Given the description of an element on the screen output the (x, y) to click on. 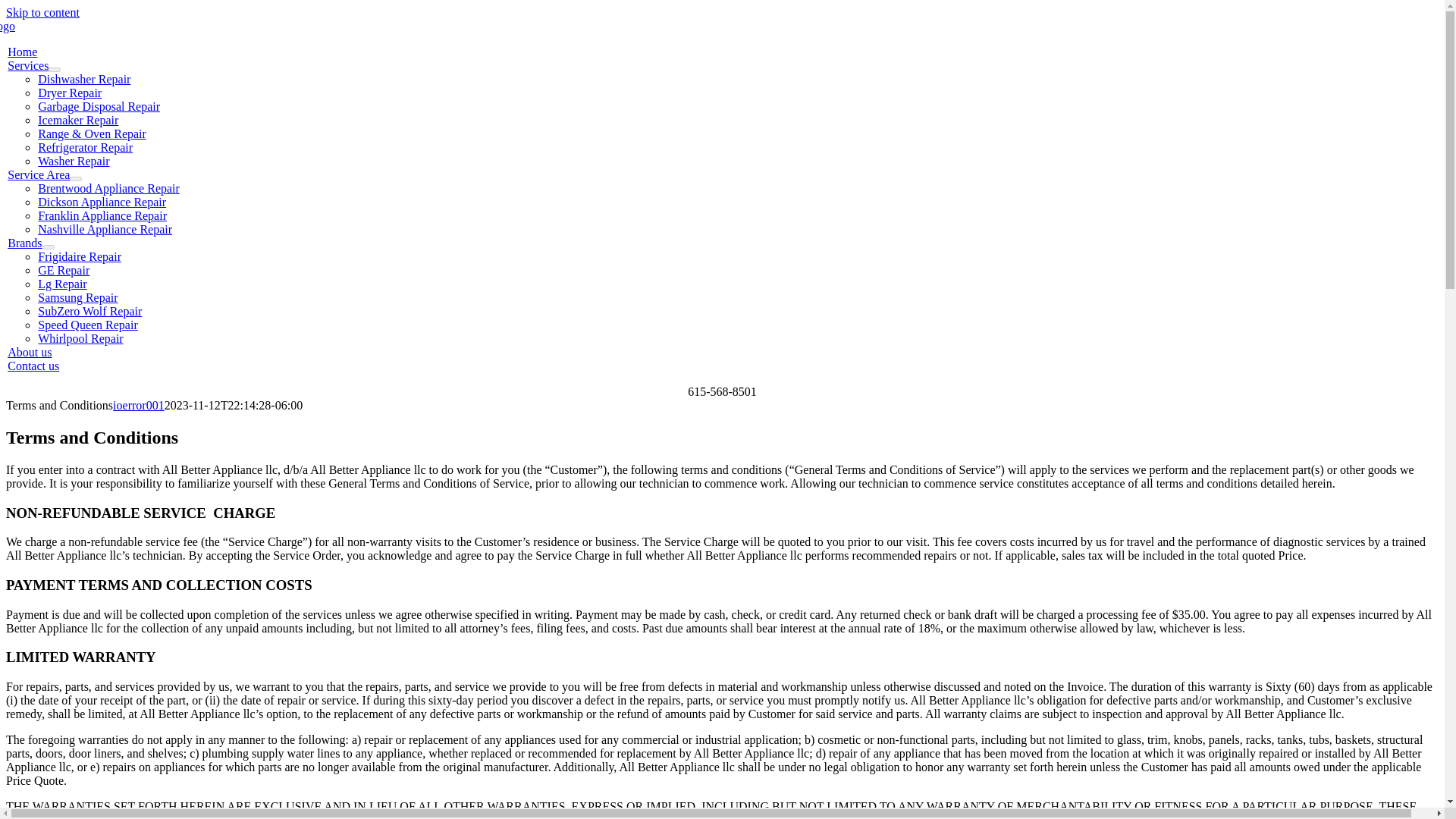
About us (28, 351)
Washer Repair (73, 160)
Dishwasher Repair (84, 78)
SubZero Wolf Repair (89, 310)
Icemaker Repair (77, 119)
Samsung Repair (77, 297)
Skip to content (42, 11)
Dickson Appliance Repair (101, 201)
Frigidaire Repair (78, 256)
Brentwood Appliance Repair (108, 187)
Refrigerator Repair (84, 146)
ioerror001 (138, 404)
615-568-8501 (722, 391)
Speed Queen Repair (87, 324)
GE Repair (62, 269)
